Given the description of an element on the screen output the (x, y) to click on. 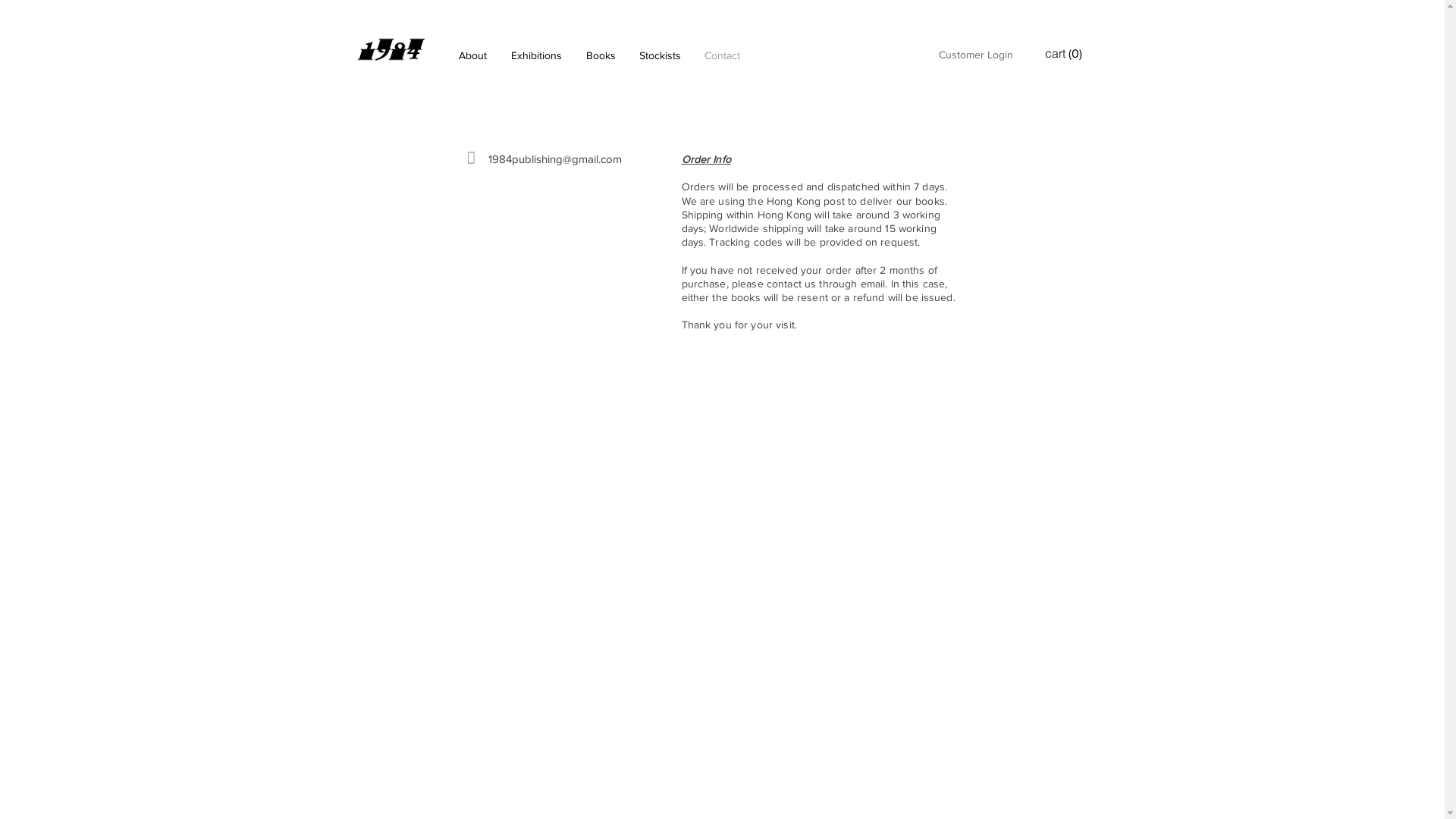
Exhibitions Element type: text (536, 55)
Contact Element type: text (722, 55)
Customer Login Element type: text (975, 55)
About Element type: text (471, 55)
cart (0) Element type: text (1063, 53)
Books Element type: text (600, 55)
Stockists Element type: text (660, 55)
1984publishing@gmail.com Element type: text (554, 158)
